Given the description of an element on the screen output the (x, y) to click on. 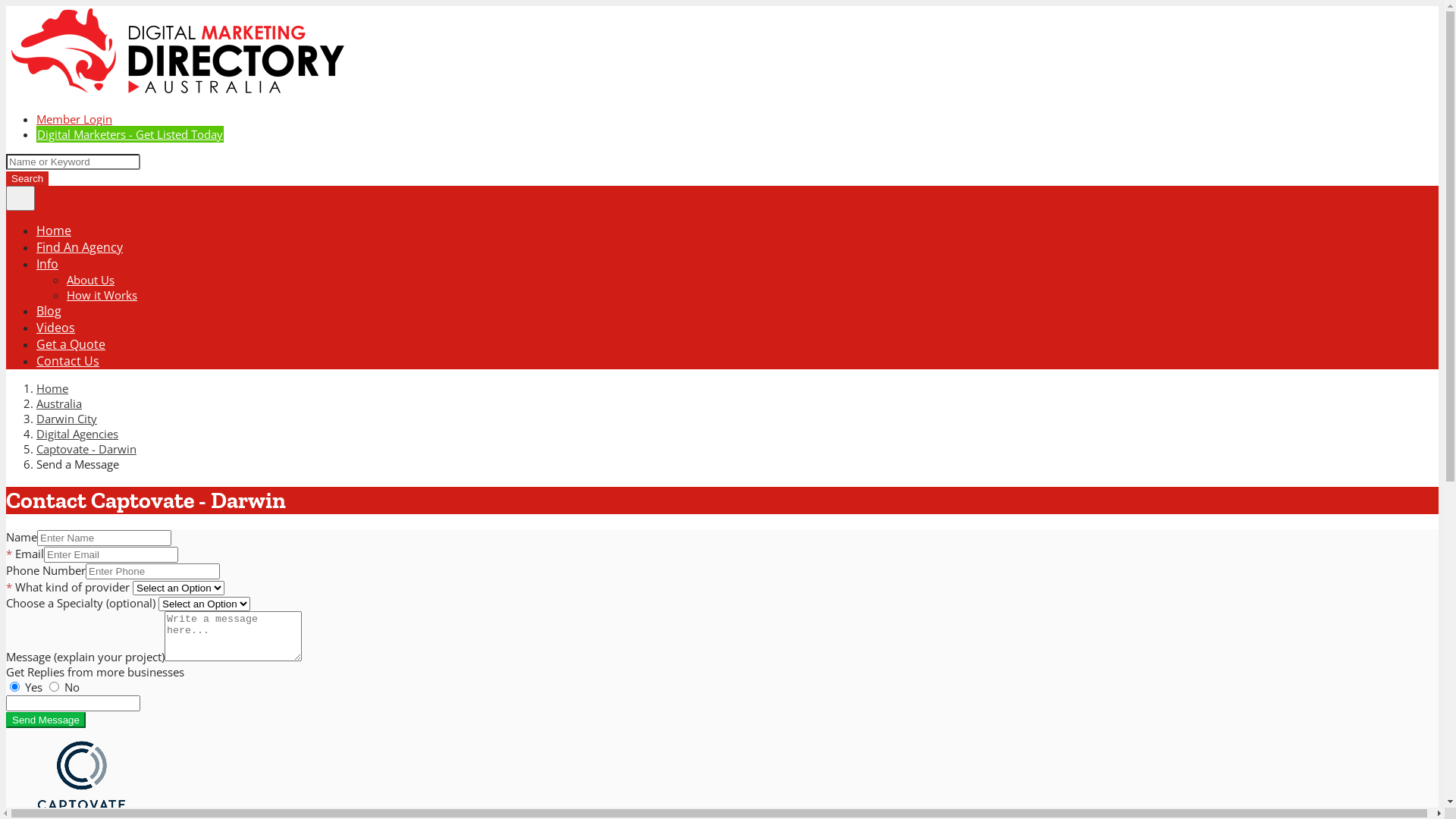
Send Message Element type: text (45, 720)
Digital Marketers - Get Listed Today Element type: text (129, 133)
Darwin City Element type: text (66, 418)
Captovate - Darwin Element type: text (86, 448)
Contact Us Element type: text (67, 360)
Info Element type: text (47, 263)
About Us Element type: text (90, 279)
Search Element type: text (27, 178)
Get a Quote Element type: text (70, 343)
Australia Element type: text (58, 403)
Blog Element type: text (48, 310)
Digital Marketing Directory - Australia Element type: hover (176, 92)
Videos Element type: text (55, 327)
Find An Agency Element type: text (79, 246)
Member Login Element type: text (74, 118)
Home Element type: text (52, 387)
How it Works Element type: text (101, 294)
Home Element type: text (53, 230)
Digital Agencies Element type: text (77, 433)
